Given the description of an element on the screen output the (x, y) to click on. 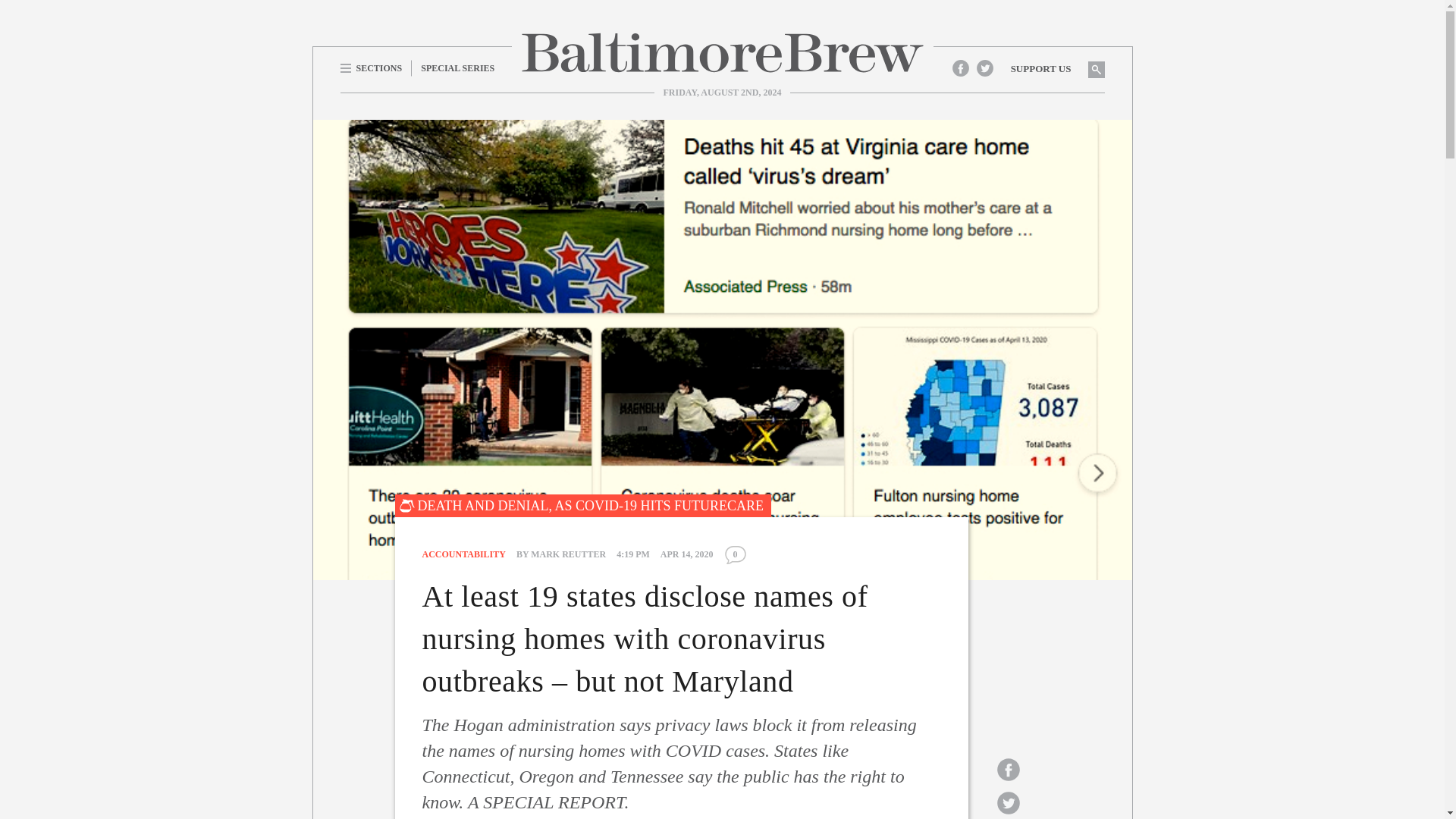
MARK REUTTER (568, 553)
SPECIAL SERIES (457, 67)
0 (734, 554)
Share on Facebook (1008, 768)
SECTIONS (374, 67)
SUPPORT US (1040, 68)
Twitter (984, 67)
DEATH AND DENIAL, AS COVID-19 HITS FUTURECARE (582, 504)
Share on Twitter (1008, 802)
ACCOUNTABILITY (463, 553)
Facebook (960, 67)
